Given the description of an element on the screen output the (x, y) to click on. 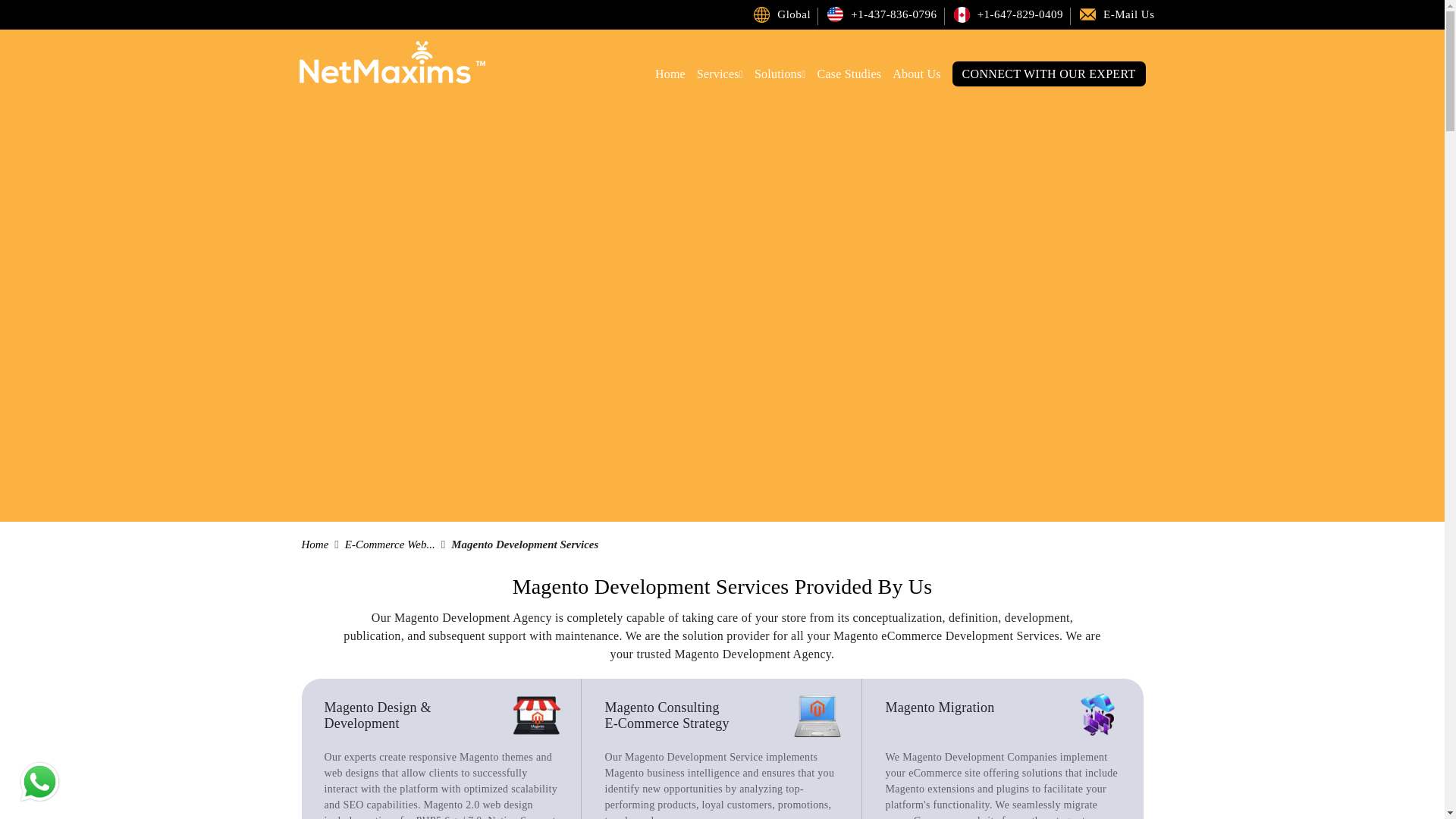
E-Mail Us (1128, 14)
Services (719, 74)
NetMaxims Technologies (961, 14)
Home (670, 72)
Magento Consulting E-commerce Strategy Icon (817, 715)
Magento Migration Icon (1099, 715)
NetMaxims Technologies (1088, 14)
NetMaxims Technologies (762, 14)
Global (793, 14)
NetMaxims Technologies (835, 14)
